Given the description of an element on the screen output the (x, y) to click on. 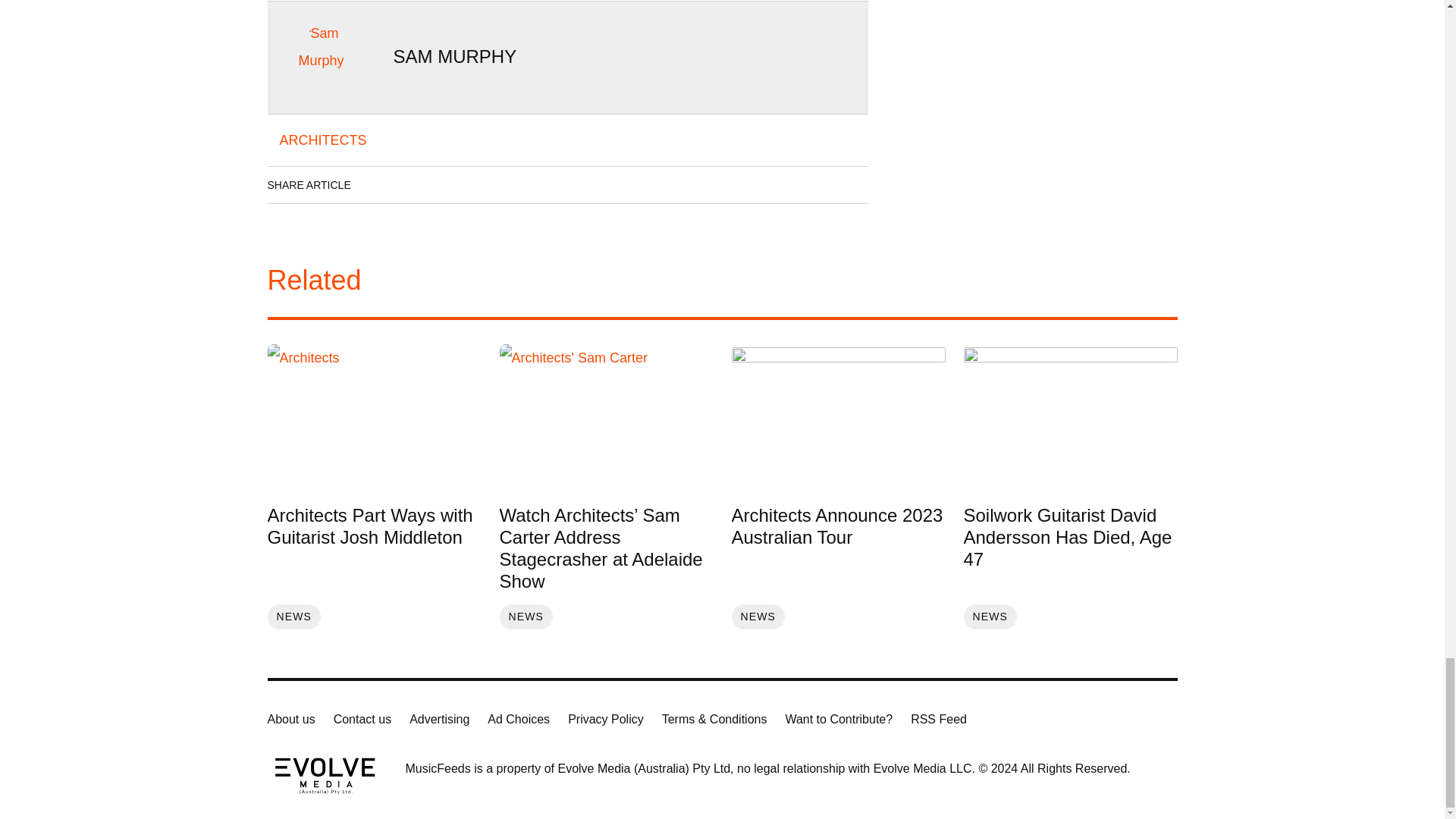
Pinterest (505, 184)
LinkedIn (420, 184)
Twitter (463, 184)
SAM MURPHY (454, 55)
Facebook (377, 184)
ARCHITECTS (322, 139)
